Given the description of an element on the screen output the (x, y) to click on. 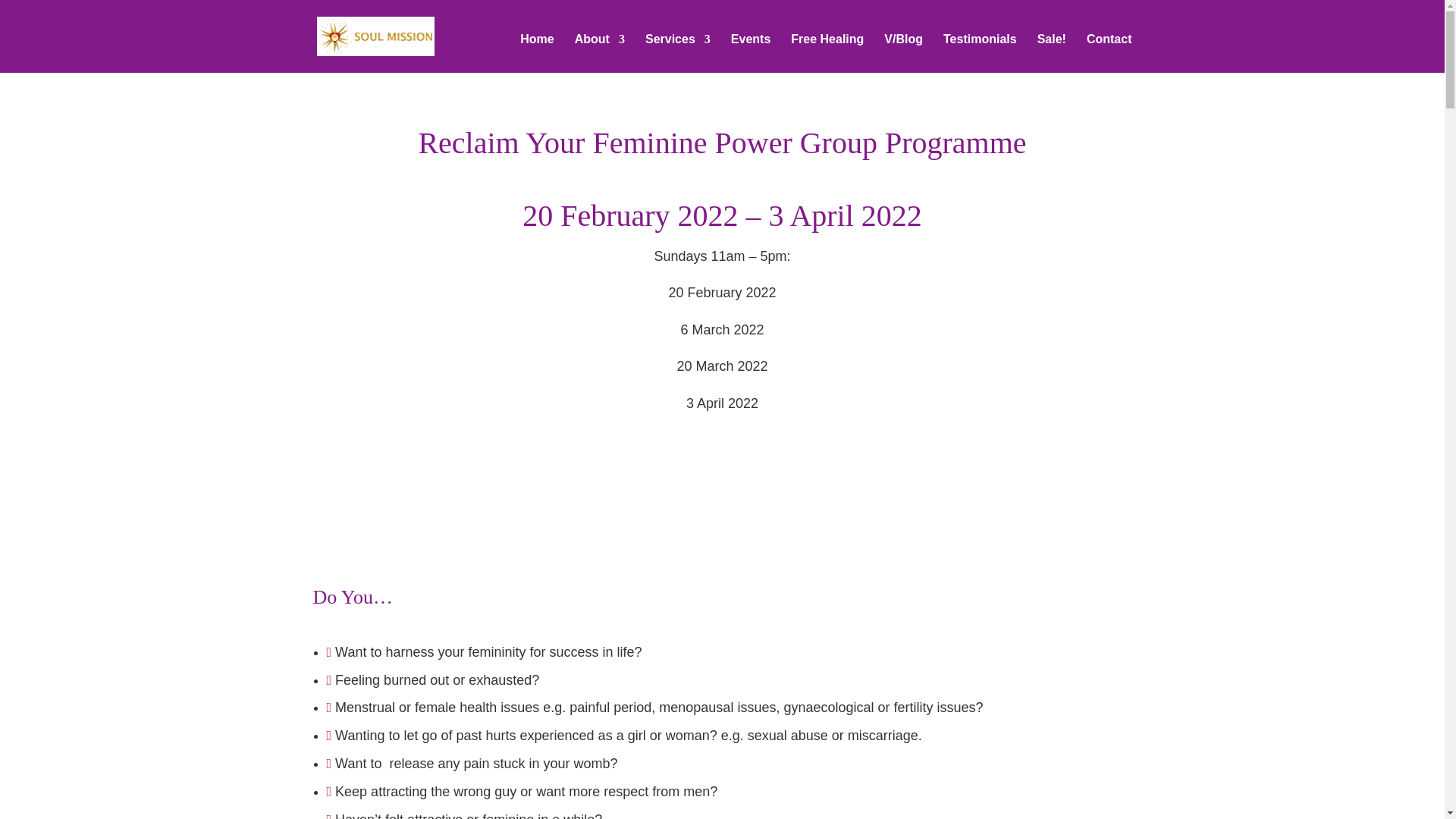
About (599, 51)
Services (677, 51)
Contact (1109, 51)
Events (750, 51)
Home (536, 51)
Free Healing (826, 51)
Sale! (1050, 51)
Testimonials (979, 51)
